Given the description of an element on the screen output the (x, y) to click on. 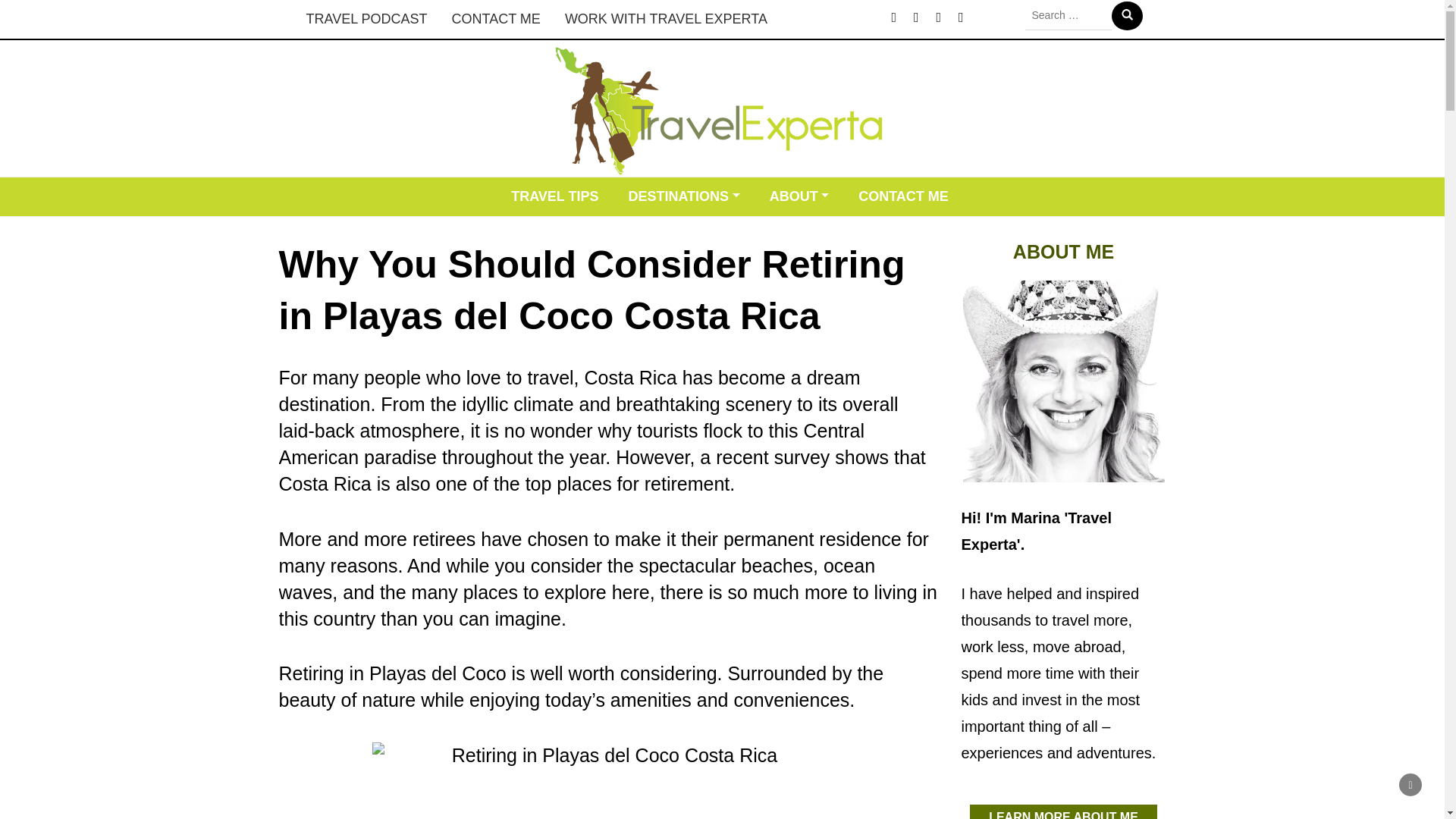
TRAVEL TIPS (554, 196)
WORK WITH TRAVEL EXPERTA (665, 19)
ABOUT (799, 196)
TRAVEL PODCAST (366, 19)
CONTACT ME (496, 19)
DESTINATIONS (683, 196)
CONTACT ME (902, 196)
Search (1126, 15)
Search (1126, 15)
Search (1126, 15)
Search for: (1068, 15)
